Given the description of an element on the screen output the (x, y) to click on. 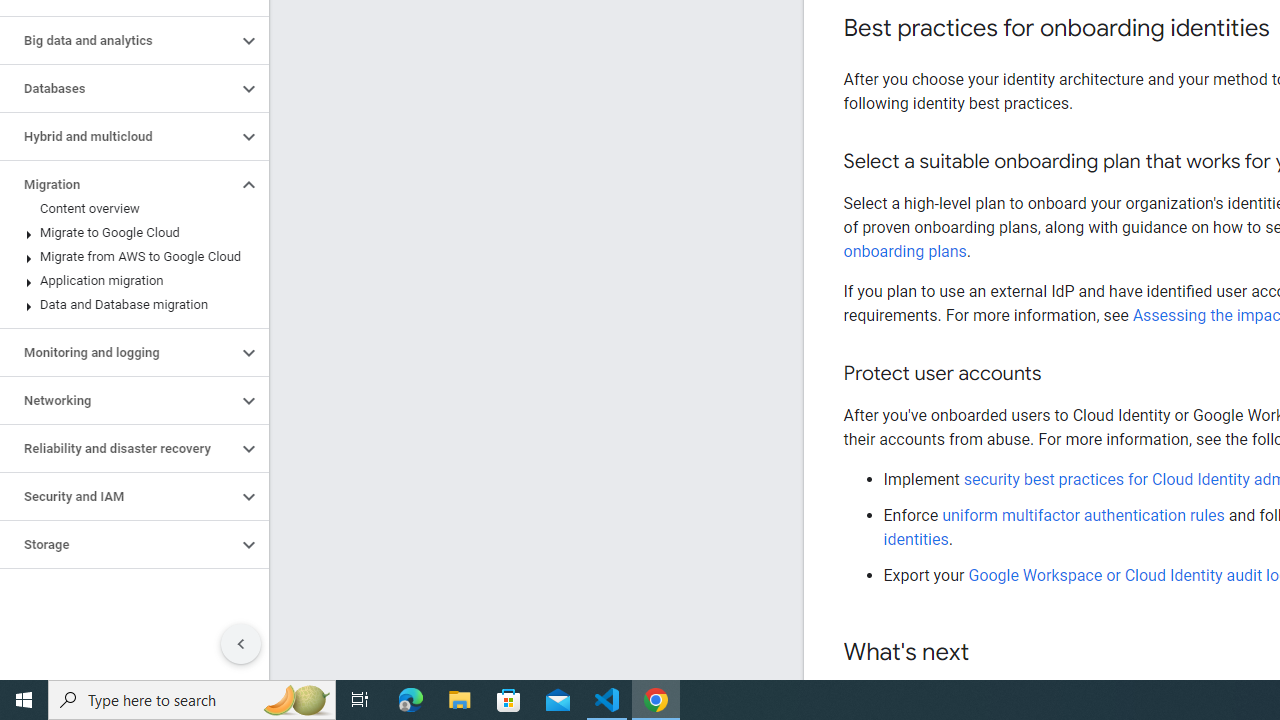
uniform multifactor authentication rules  (1085, 515)
Storage (118, 544)
Copy link to this section: What's next (988, 653)
Migration (118, 184)
